Given the description of an element on the screen output the (x, y) to click on. 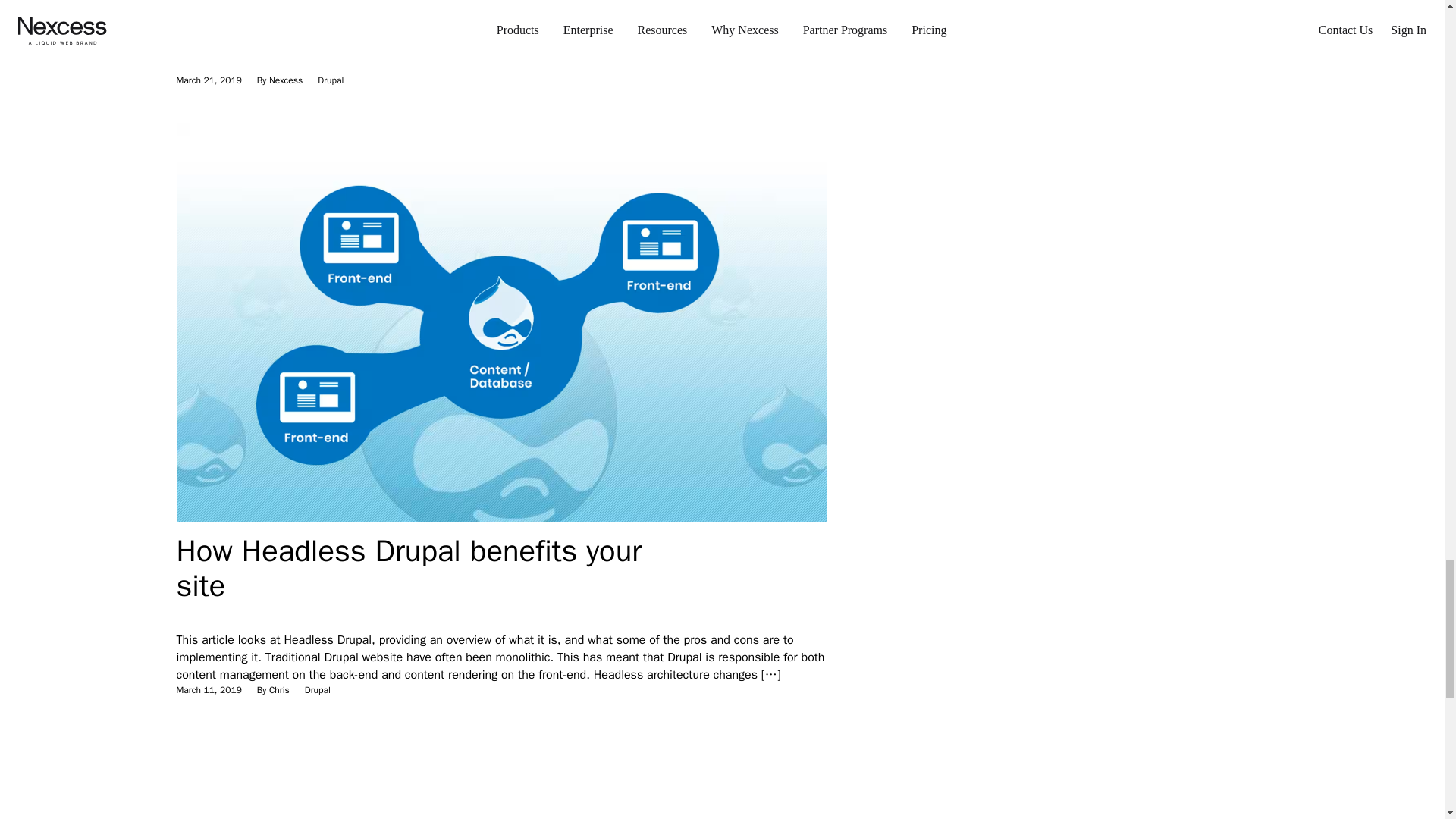
Chris (279, 689)
Drupal (317, 689)
How Headless Drupal benefits your site (408, 568)
Drupal (330, 80)
Nexcess (285, 80)
